Given the description of an element on the screen output the (x, y) to click on. 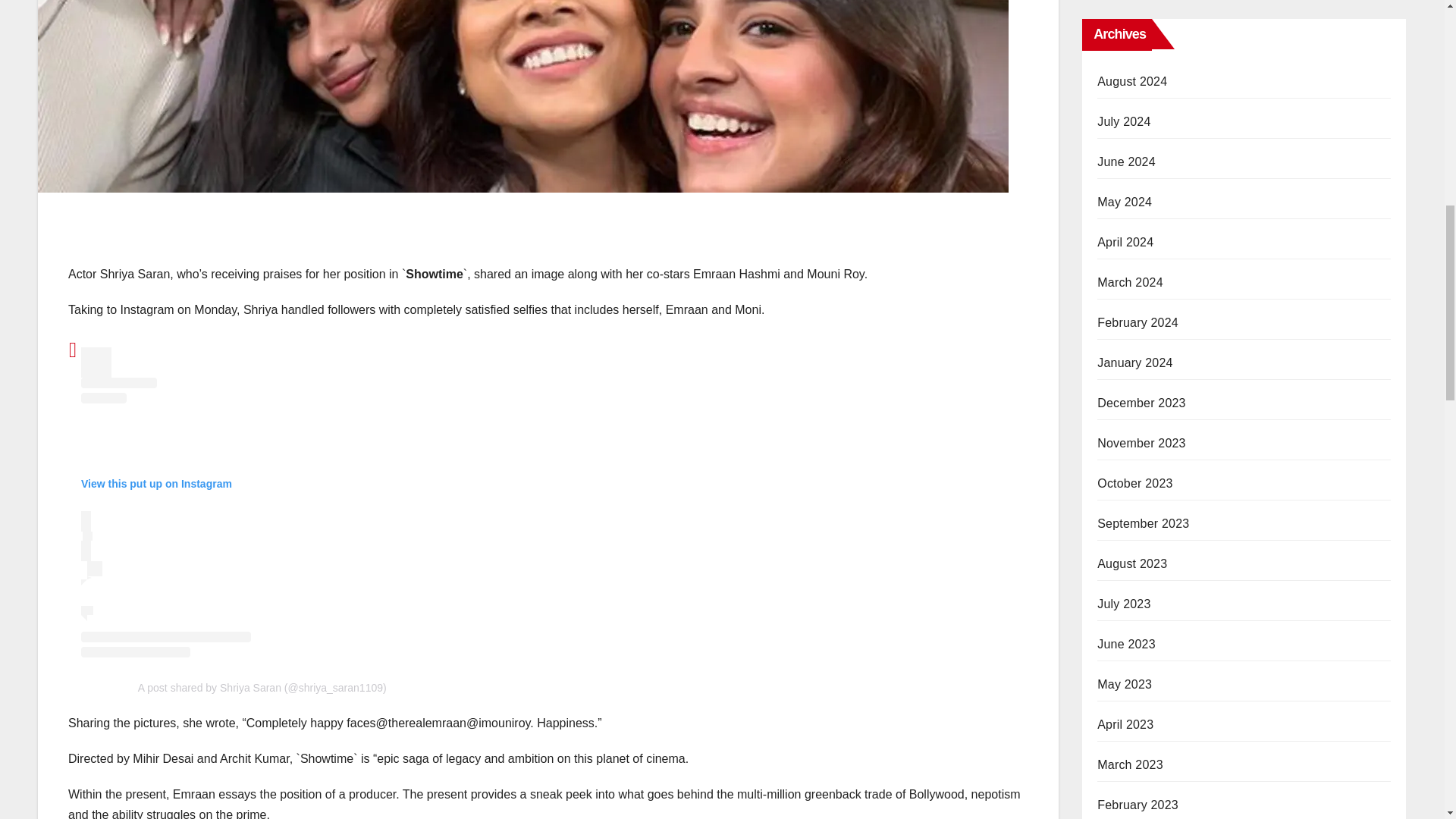
June 2024 (1126, 161)
August 2024 (1132, 81)
July 2024 (1123, 121)
